Given the description of an element on the screen output the (x, y) to click on. 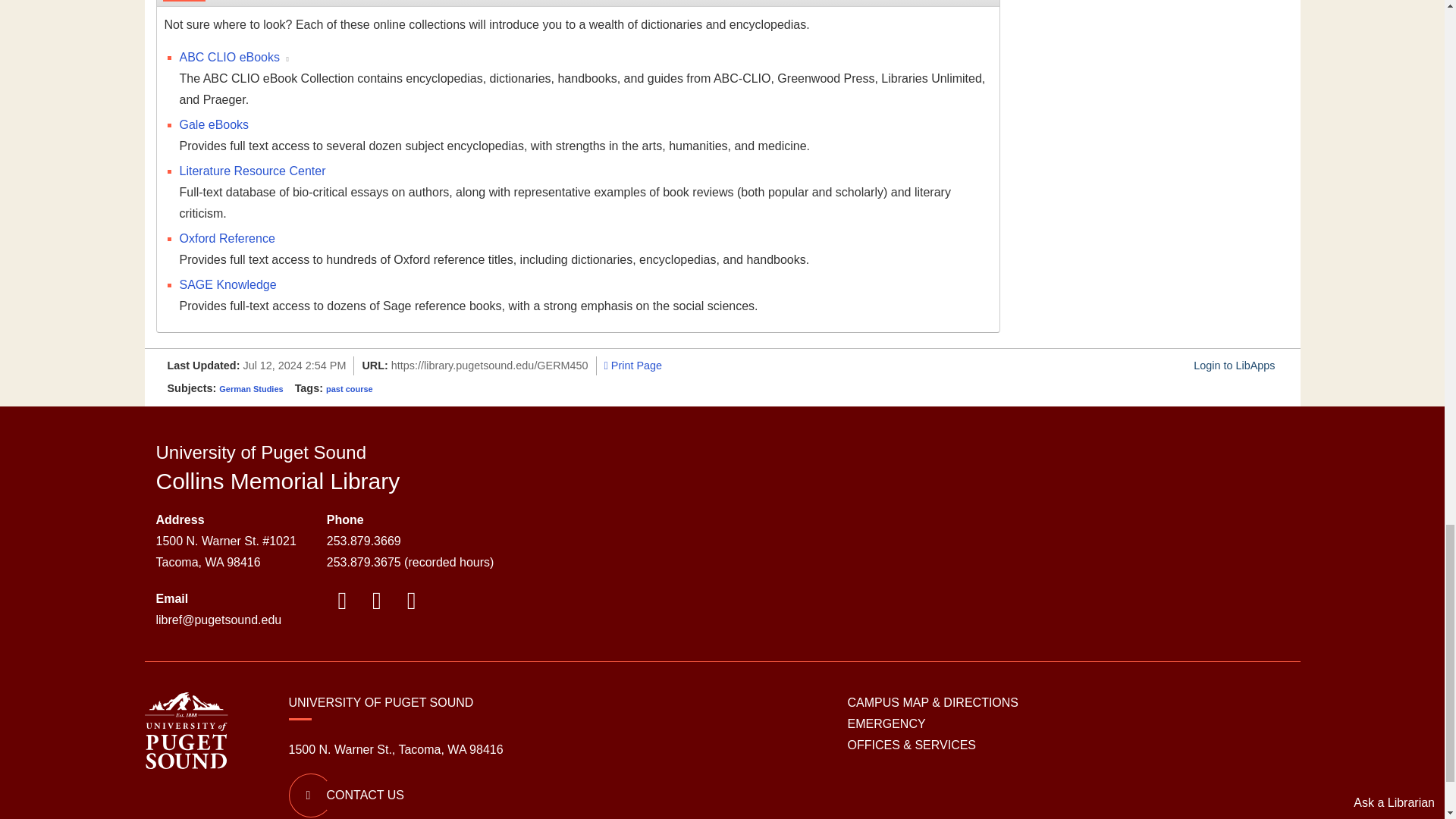
This link opens in a new window (287, 59)
Collins Unbound Blog (376, 604)
